Given the description of an element on the screen output the (x, y) to click on. 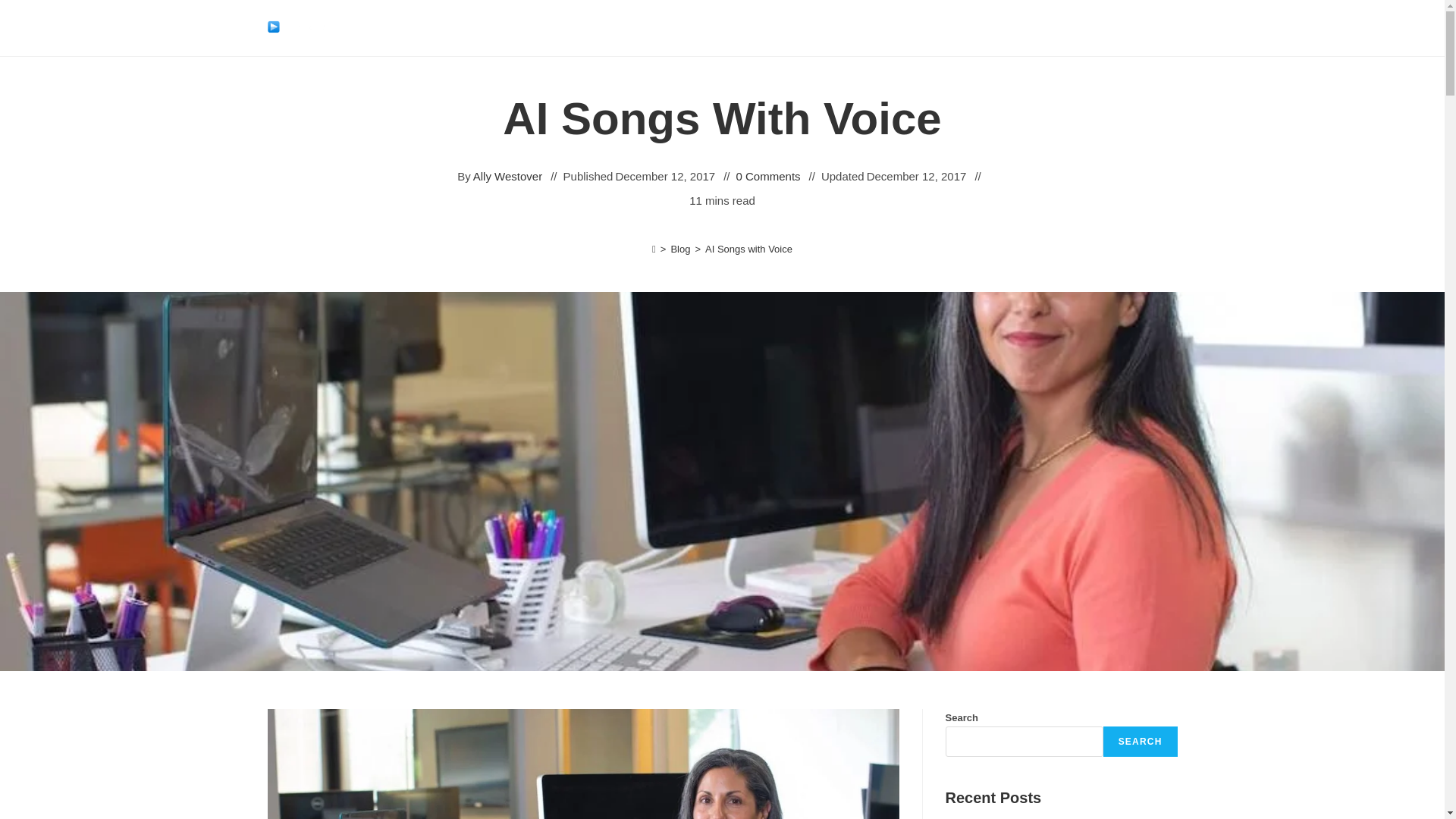
Blog (679, 248)
0 Comments (768, 176)
AI Songs with Voice (748, 248)
Ally Westover (507, 176)
